Given the description of an element on the screen output the (x, y) to click on. 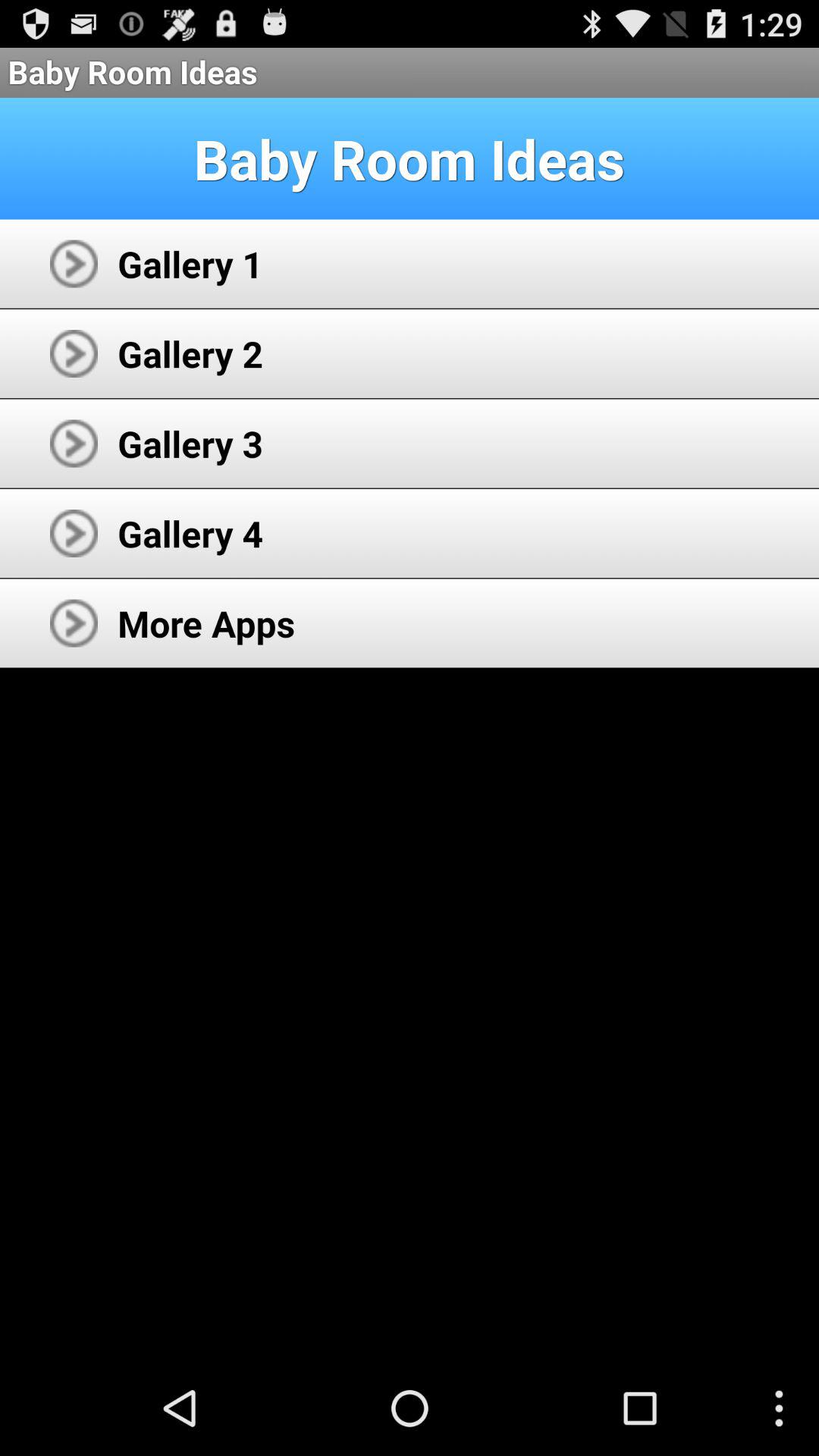
tap app below gallery 4 item (206, 622)
